Given the description of an element on the screen output the (x, y) to click on. 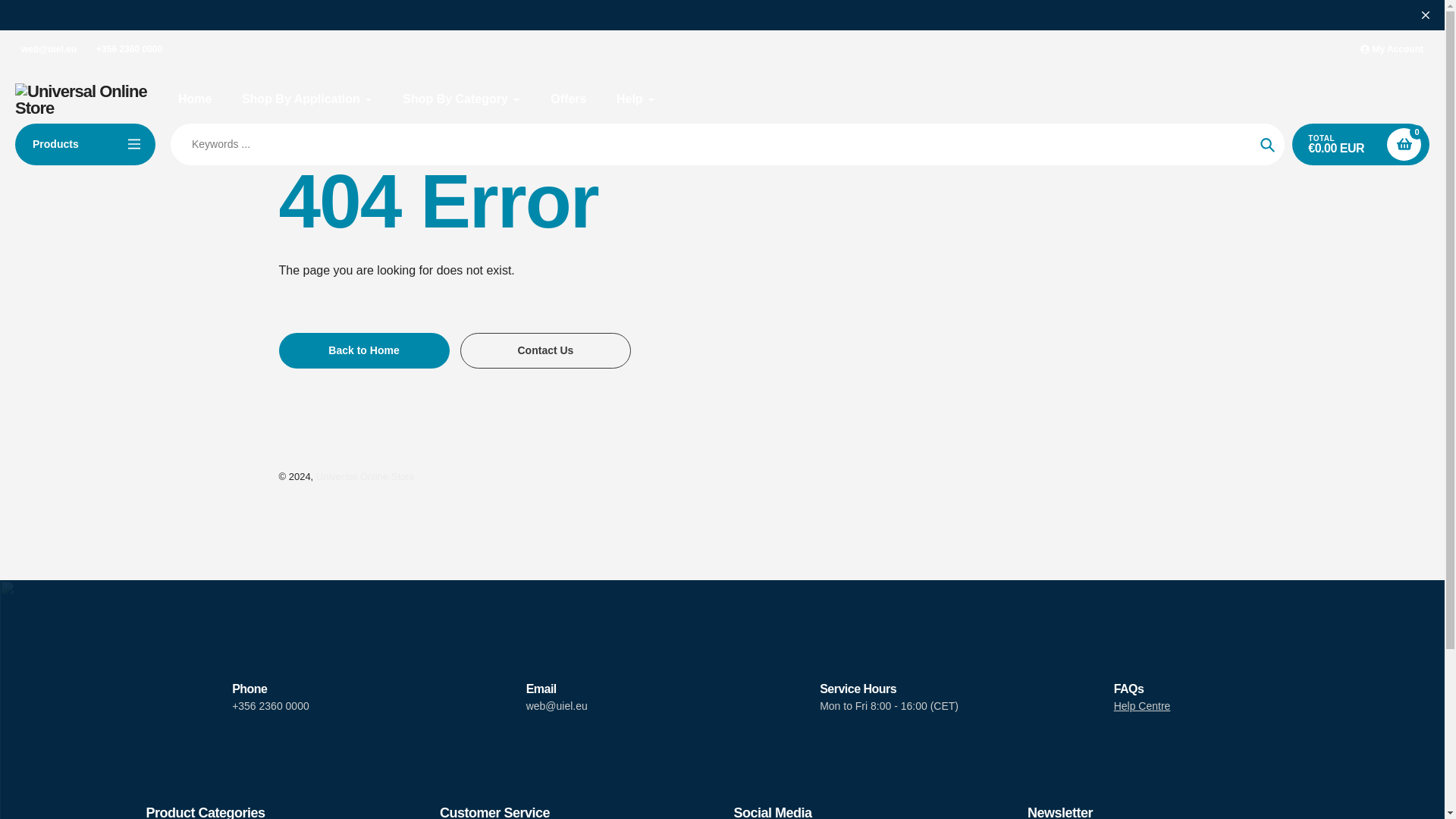
Help (635, 99)
FAQ (1141, 705)
Shop By Application (306, 99)
Offers (568, 99)
Products (84, 144)
Shop By Category (462, 99)
My Account (1391, 49)
Home (194, 99)
